Given the description of an element on the screen output the (x, y) to click on. 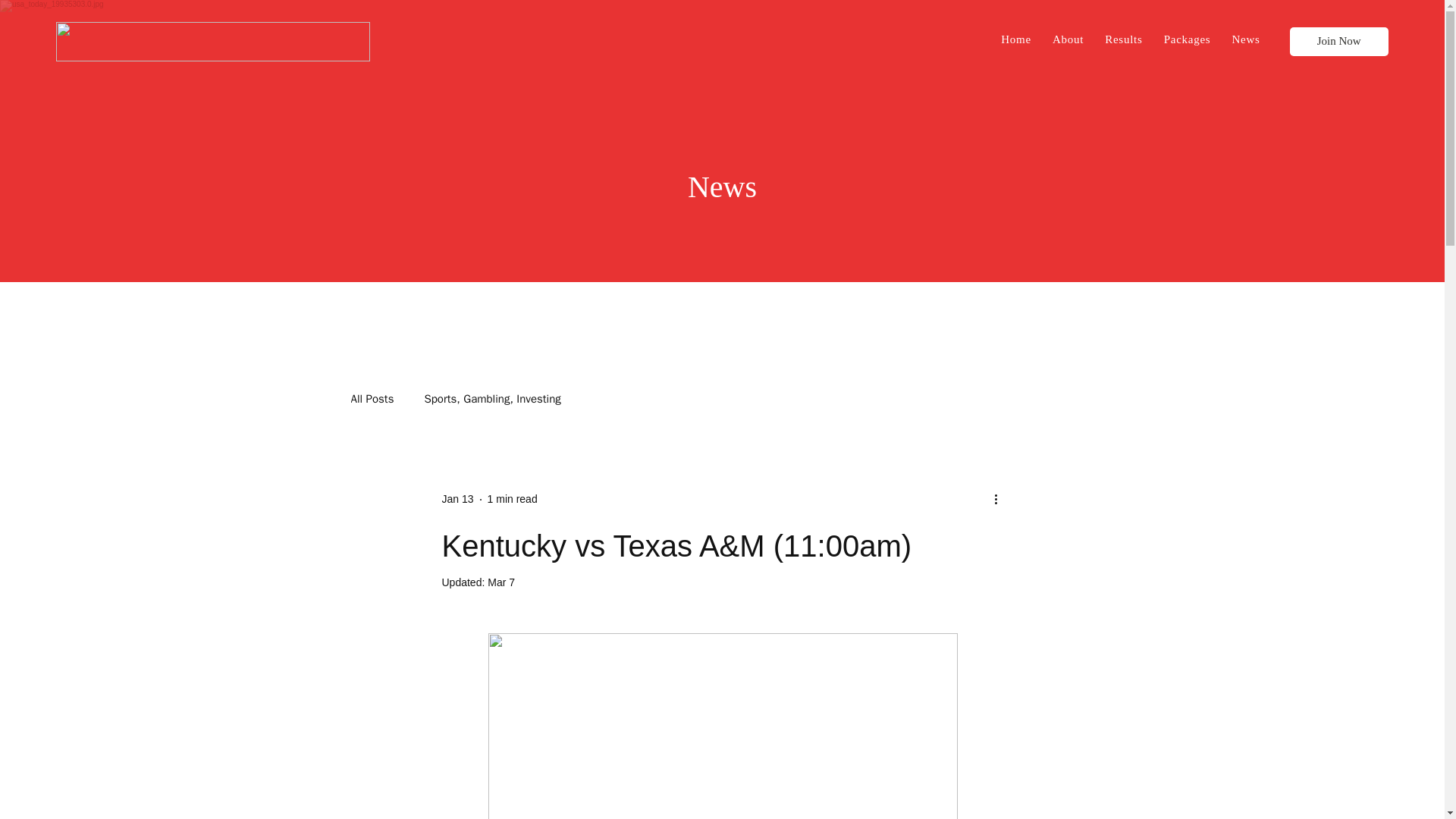
Mar 7 (501, 582)
Home (1015, 39)
About (1067, 39)
Results (1123, 39)
1 min read (512, 499)
News (1245, 39)
Join Now (1339, 41)
Jan 13 (457, 499)
Packages (1187, 39)
All Posts (371, 399)
Sports, Gambling, Investing (491, 399)
